Given the description of an element on the screen output the (x, y) to click on. 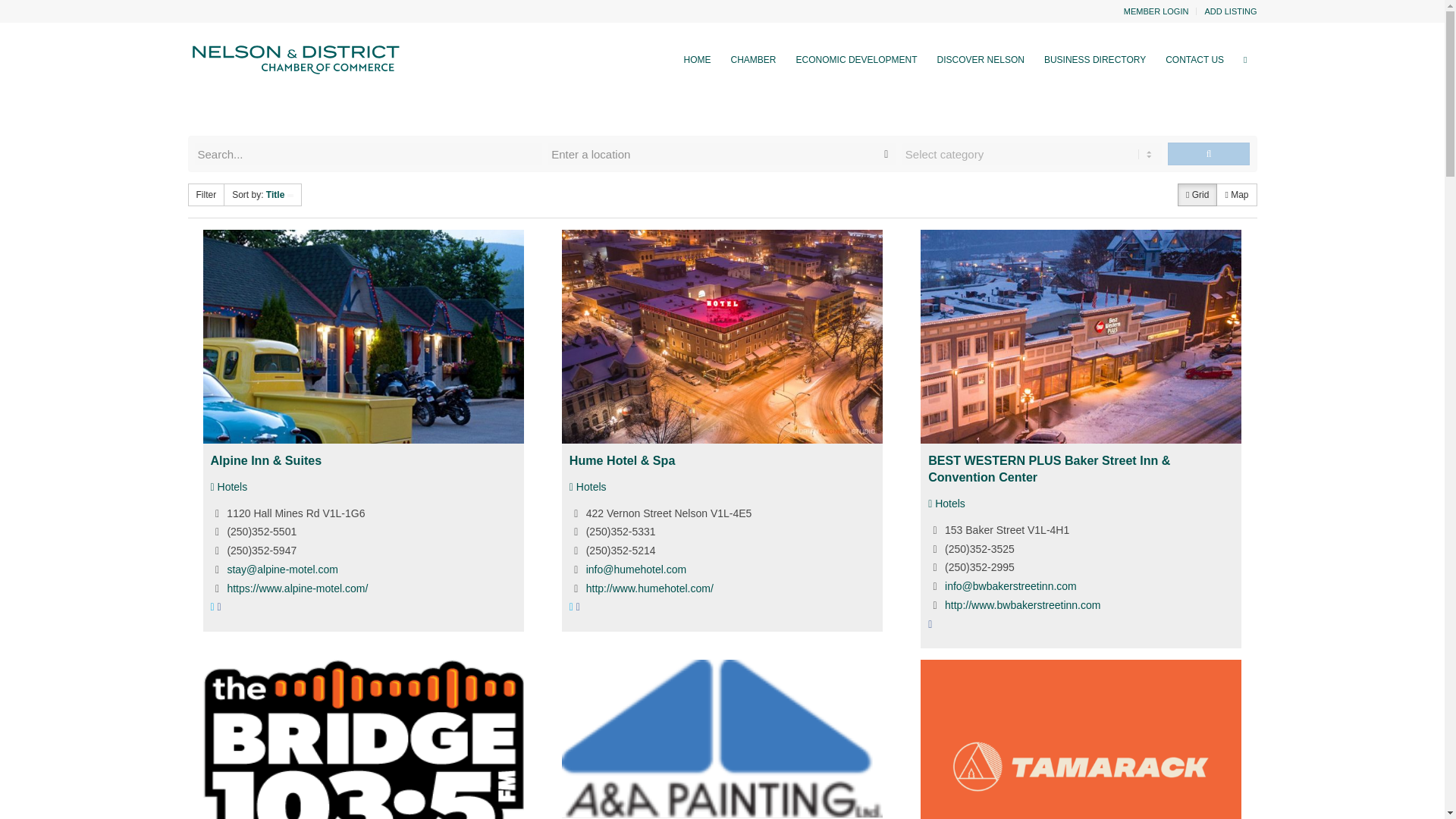
Switch to grid view (1197, 194)
MEMBER LOGIN (1156, 11)
ADD LISTING (1230, 11)
ECONOMIC DEVELOPMENT (856, 59)
DISCOVER NELSON (980, 59)
Switch to map view (1235, 194)
